Given the description of an element on the screen output the (x, y) to click on. 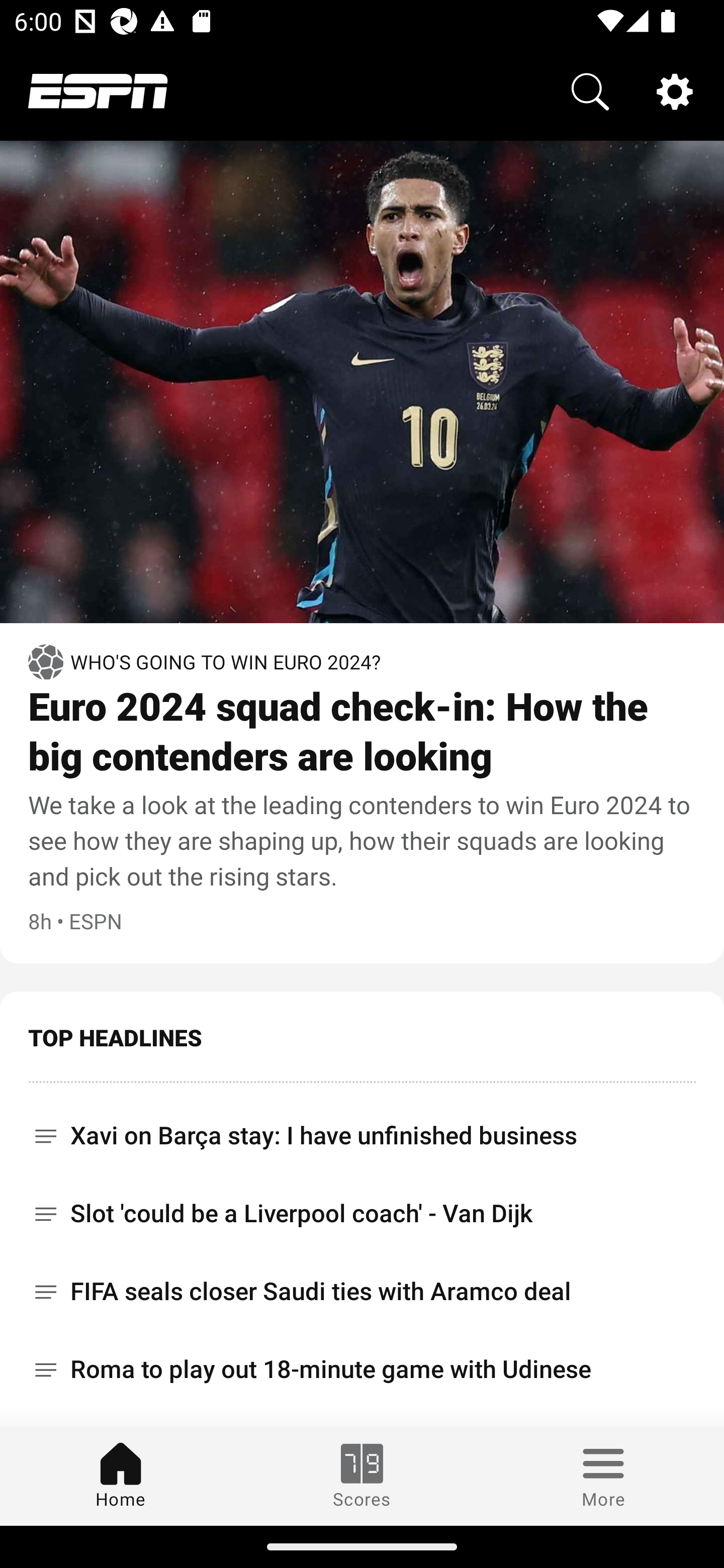
Search (590, 90)
Settings (674, 90)
 Xavi on Barça stay: I have unfinished business (362, 1128)
 Slot 'could be a Liverpool coach' - Van Dijk (362, 1213)
 FIFA seals closer Saudi ties with Aramco deal (362, 1291)
 Roma to play out 18-minute game with Udinese (362, 1369)
Scores (361, 1475)
More (603, 1475)
